Given the description of an element on the screen output the (x, y) to click on. 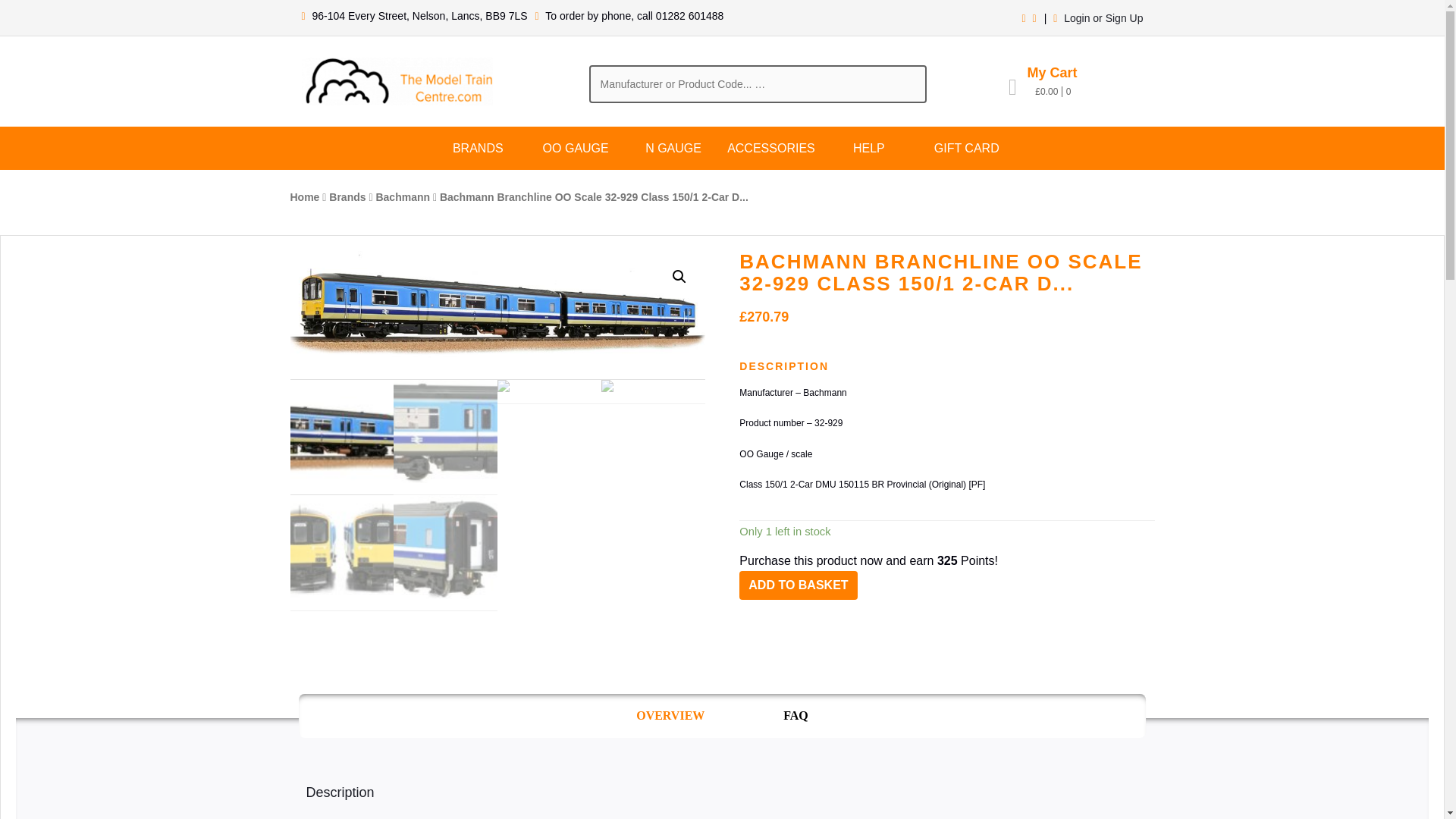
1 (496, 314)
Login or Sign Up (1103, 18)
BRANDS (477, 147)
